Given the description of an element on the screen output the (x, y) to click on. 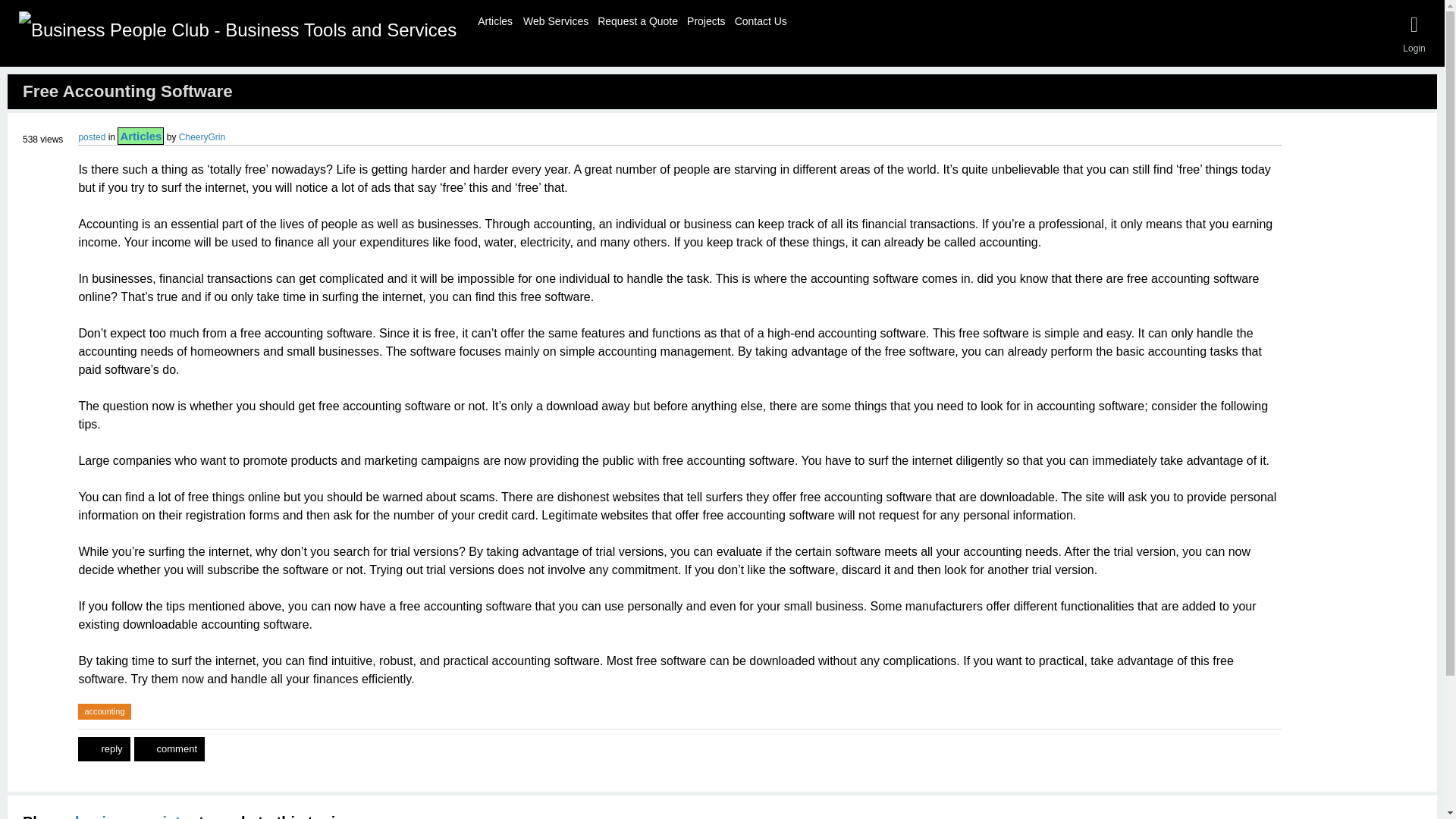
Request a Quote (637, 19)
accounting (104, 711)
CheeryGrin (202, 136)
Business People Club - Business Tools and Services (237, 29)
log in (95, 816)
reply to this topic (103, 749)
Web Services (555, 19)
posted (91, 136)
reply (103, 749)
reply (103, 749)
